Given the description of an element on the screen output the (x, y) to click on. 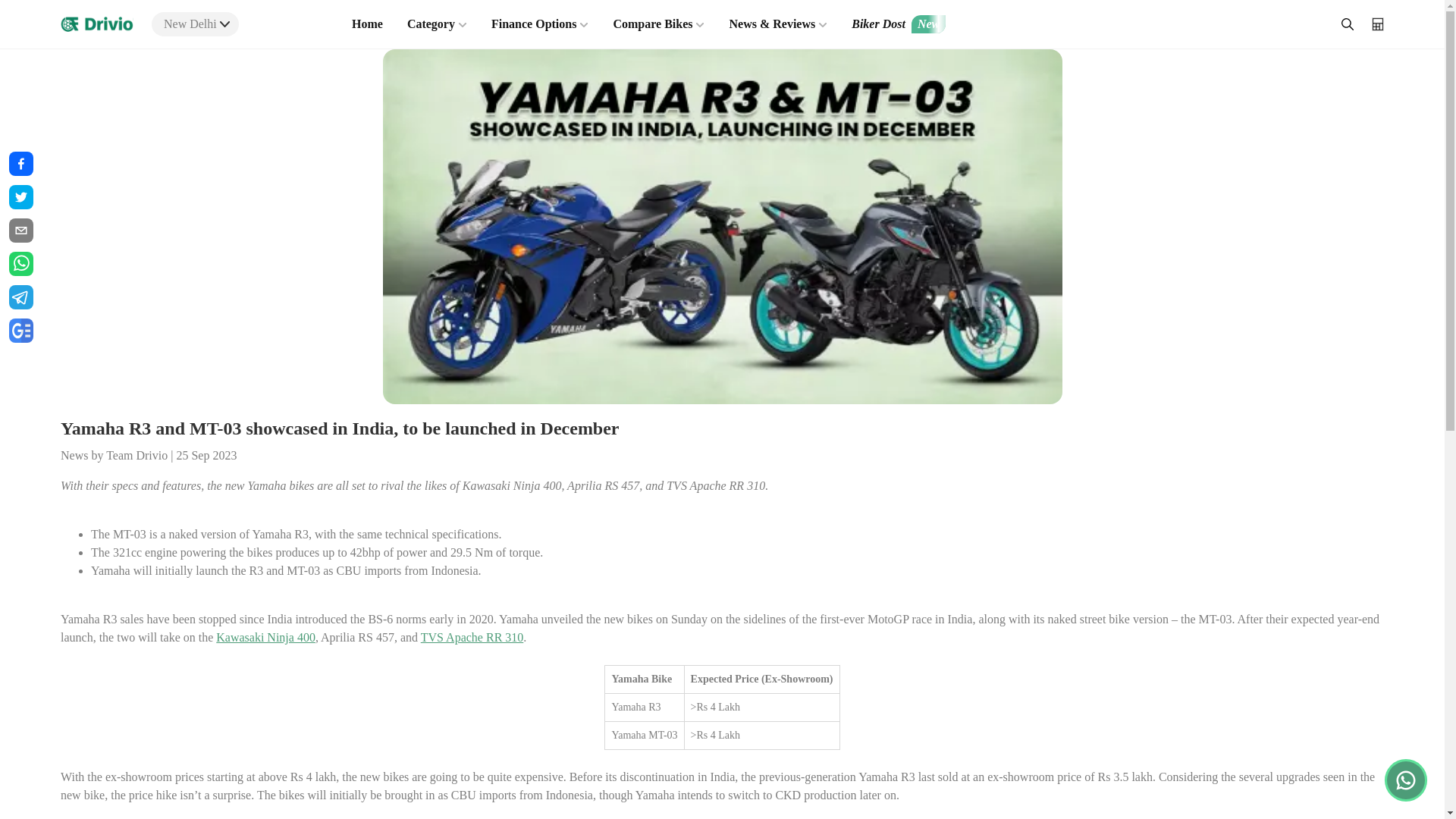
New (927, 24)
news (20, 330)
TVS Apache RR 310 (472, 636)
Search (1347, 24)
Drivio (97, 23)
City (224, 23)
Kawasaki Ninja 400 (265, 636)
